Given the description of an element on the screen output the (x, y) to click on. 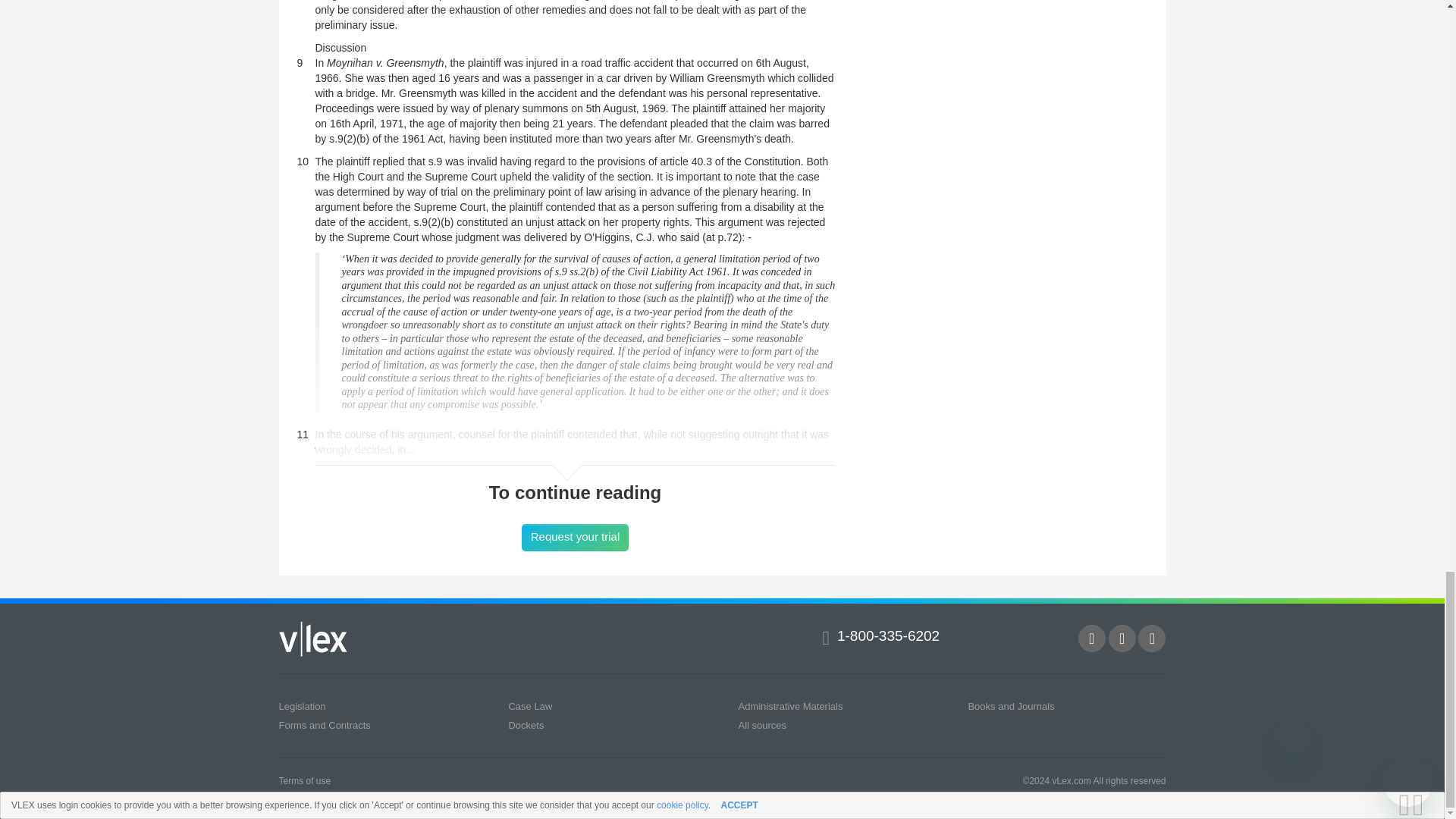
Administrative Materials (790, 706)
Forms and Contracts (325, 724)
Legislation (302, 706)
vLex (313, 637)
Case Law (529, 706)
Case Law (529, 706)
Dockets (525, 724)
Terms of use (305, 779)
All sources (762, 724)
Books and Journals (1011, 706)
Forms and Contracts (325, 724)
Legislation (302, 706)
Administrative Materials (790, 706)
All sources (762, 724)
Dockets (525, 724)
